Given the description of an element on the screen output the (x, y) to click on. 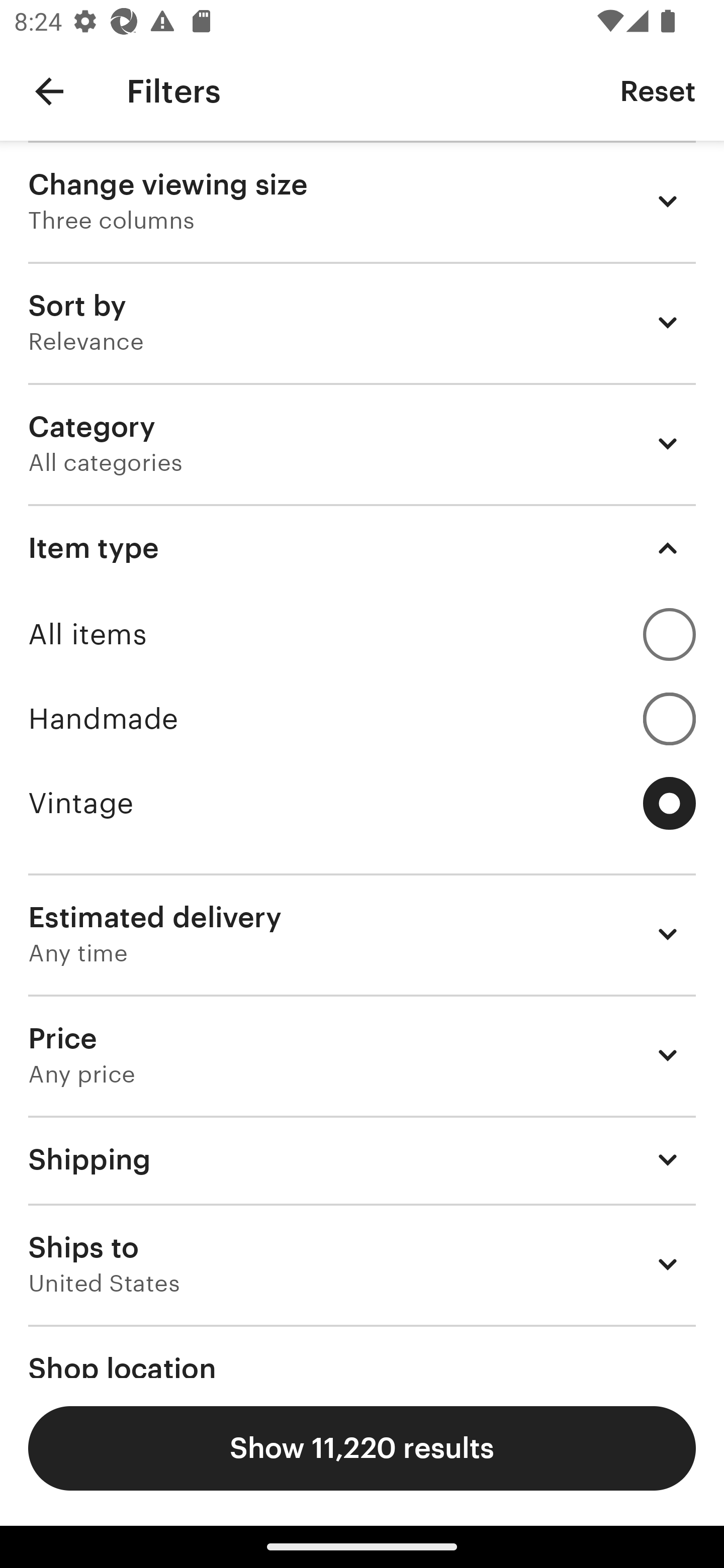
Navigate up (49, 91)
Reset (657, 90)
Change viewing size Three columns (362, 201)
Sort by Relevance (362, 321)
Category All categories (362, 442)
Item type (362, 547)
All items (362, 633)
Handmade (362, 717)
Vintage (362, 802)
Estimated delivery Any time (362, 933)
Price Any price (362, 1055)
Shipping (362, 1160)
Ships to United States (362, 1264)
Shop location (362, 1351)
Show 11,220 results Show 136,682 results (361, 1448)
